Given the description of an element on the screen output the (x, y) to click on. 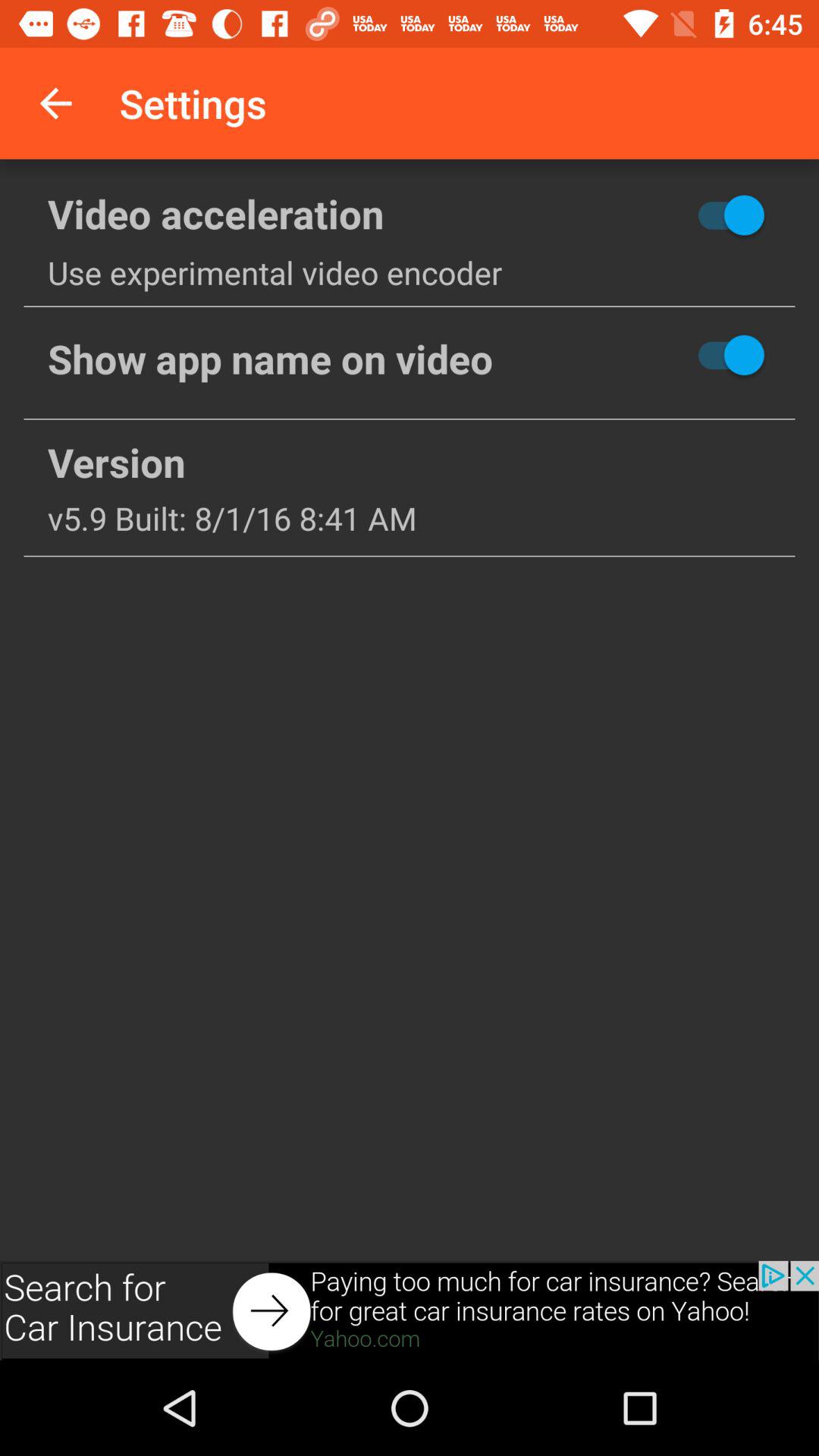
go to next (409, 1310)
